Given the description of an element on the screen output the (x, y) to click on. 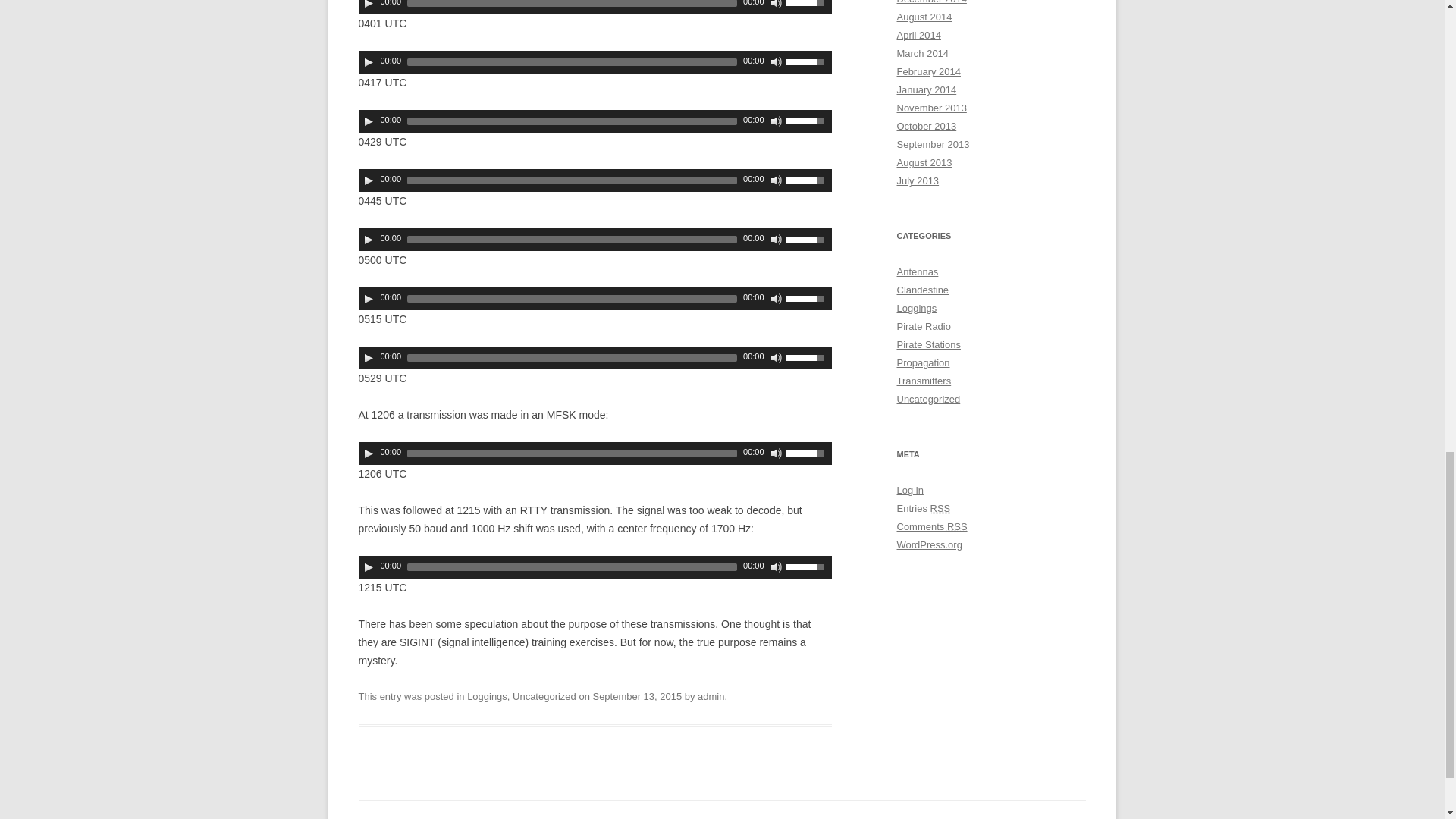
Play (368, 61)
Mute Toggle (776, 4)
Play (368, 4)
